Given the description of an element on the screen output the (x, y) to click on. 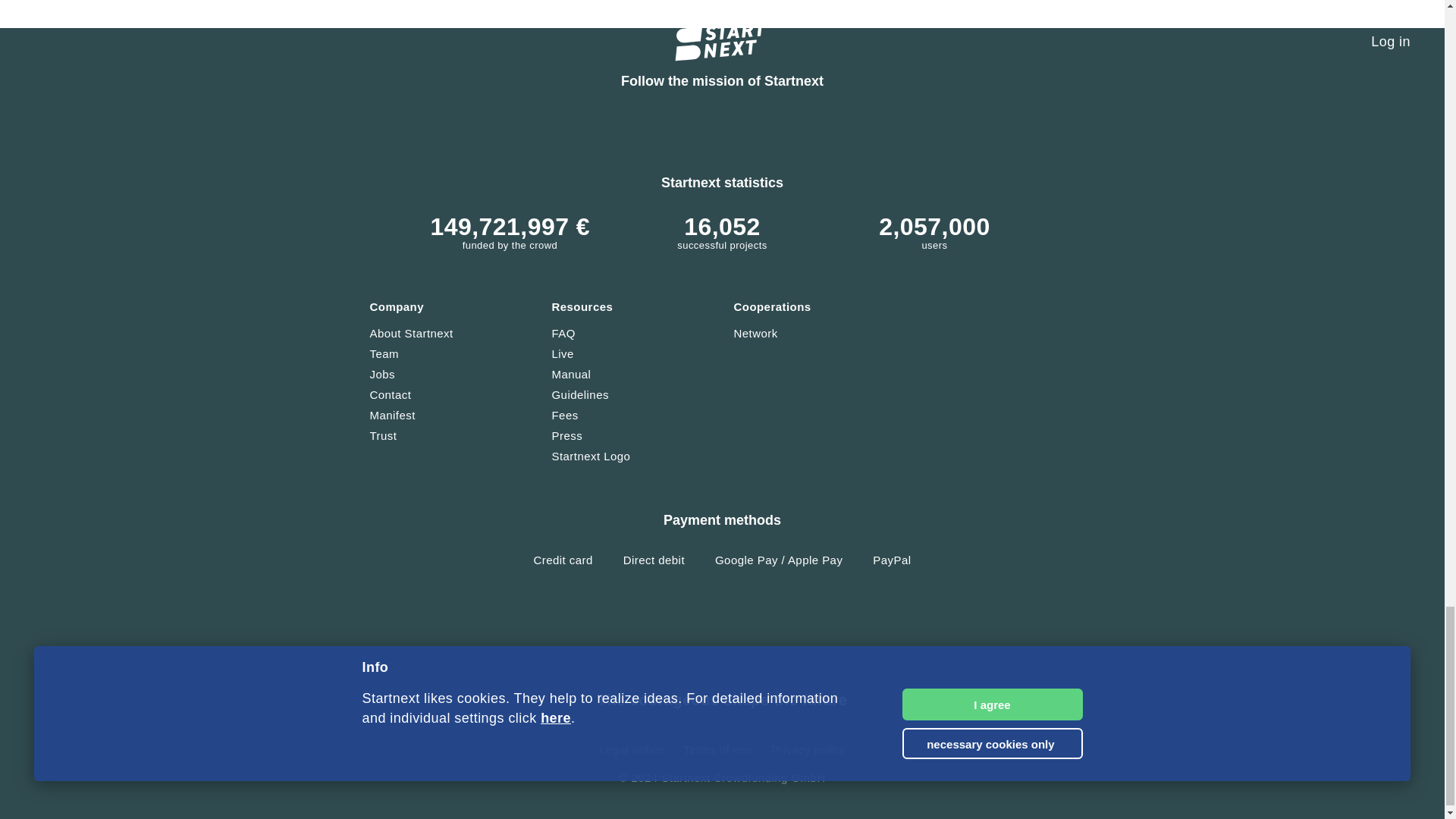
facebook (542, 129)
spotify (973, 129)
threads (828, 129)
youtube (614, 129)
tiktok (757, 129)
linkedin (686, 129)
eventbrite (901, 129)
instagram (470, 129)
